Given the description of an element on the screen output the (x, y) to click on. 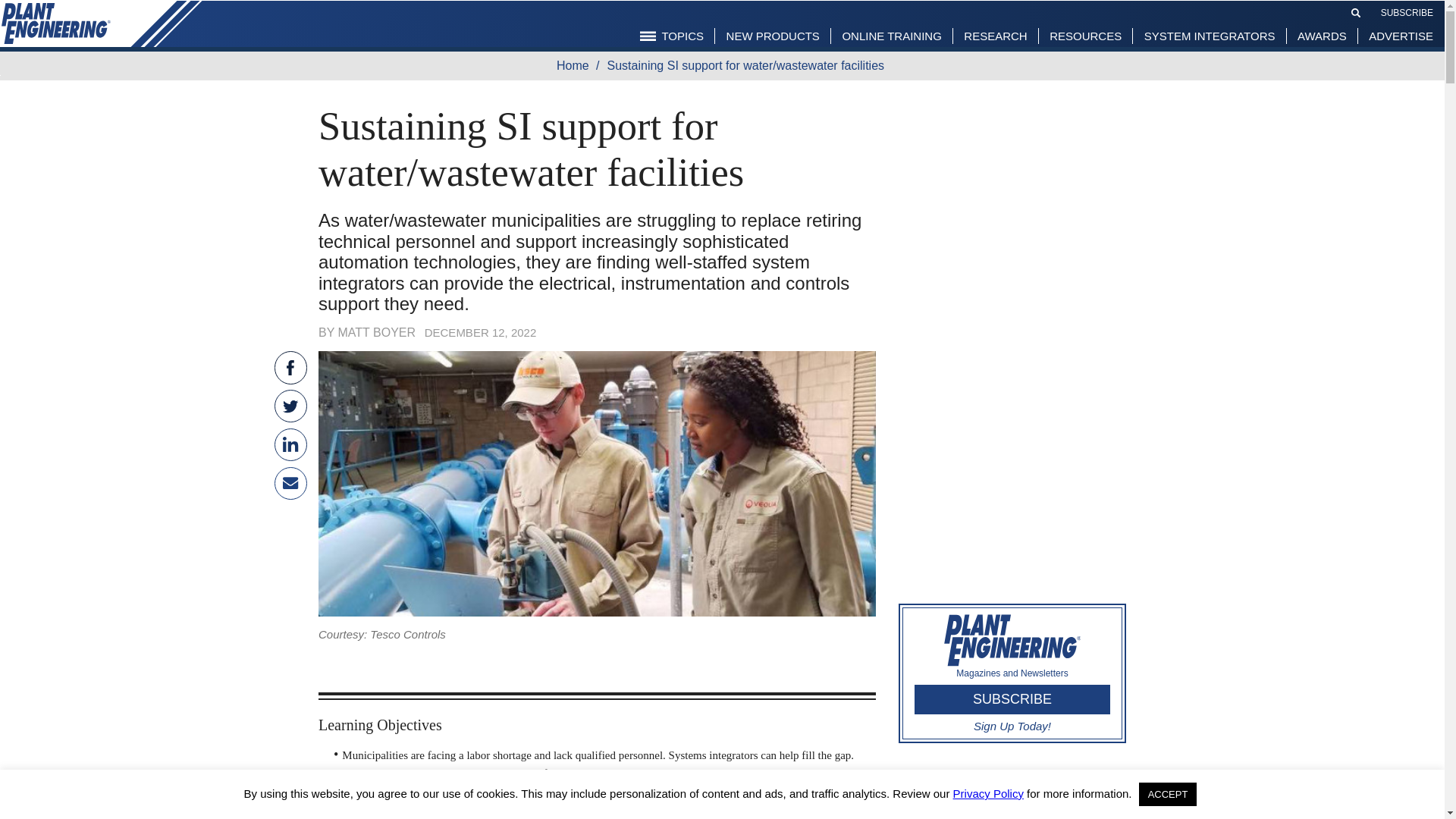
Home (575, 65)
RESOURCES (1085, 35)
Search (1356, 12)
RESEARCH (995, 35)
SYSTEM INTEGRATORS (1209, 35)
NEW PRODUCTS (772, 35)
ONLINE TRAINING (890, 35)
TOPICS (671, 35)
SUBSCRIBE (1406, 11)
AWARDS (1321, 35)
